Given the description of an element on the screen output the (x, y) to click on. 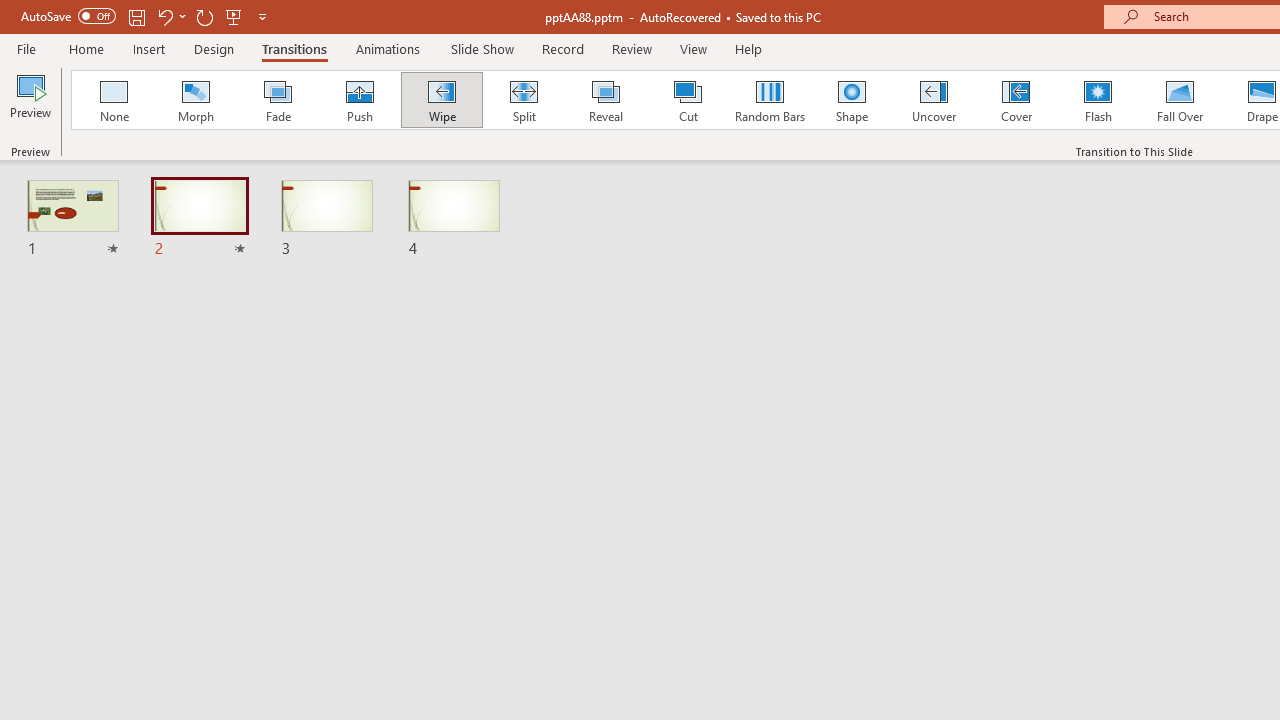
Morph (195, 100)
Flash (1098, 100)
